Given the description of an element on the screen output the (x, y) to click on. 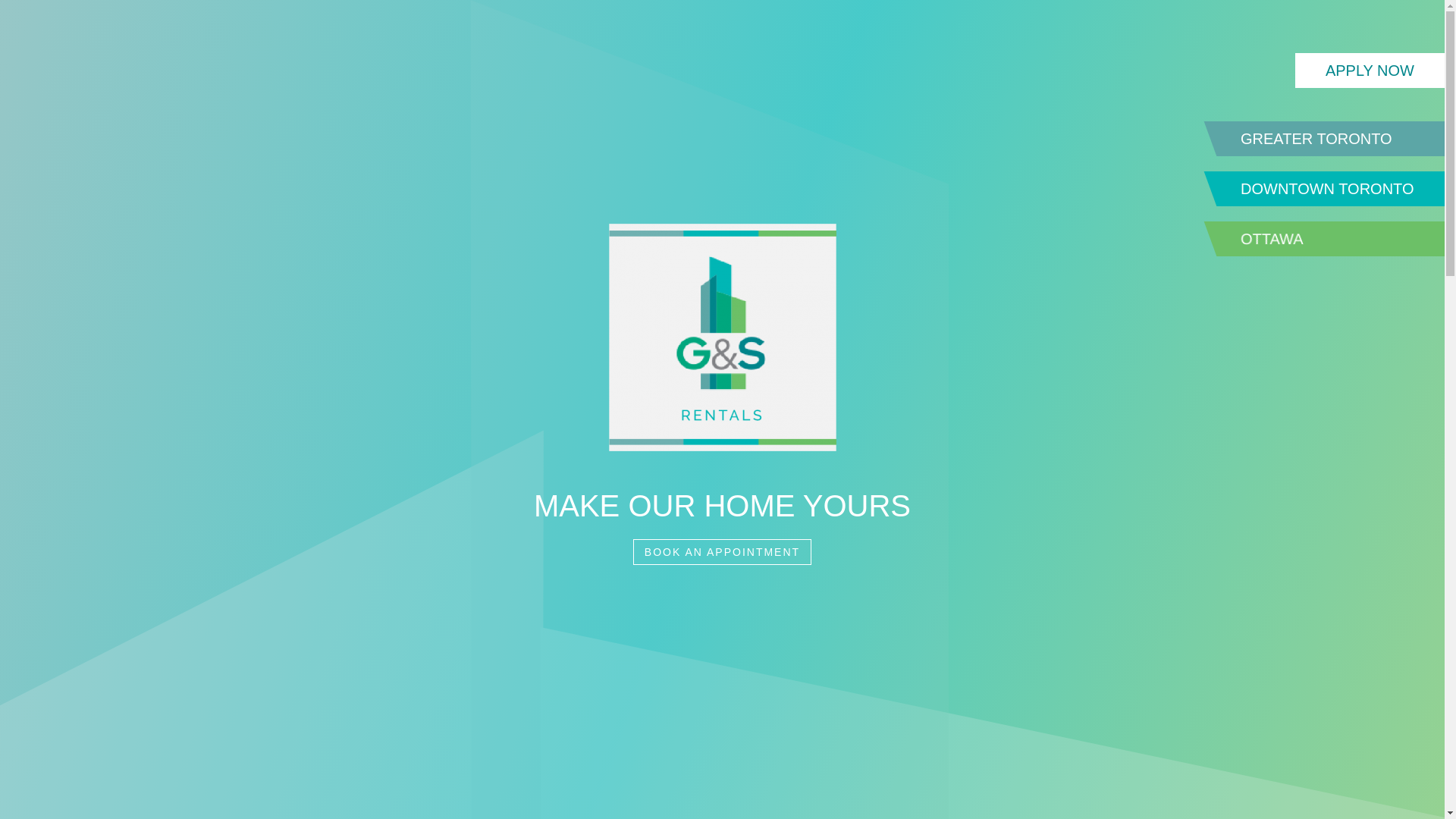
BOOK AN APPOINTMENT (721, 551)
